Given the description of an element on the screen output the (x, y) to click on. 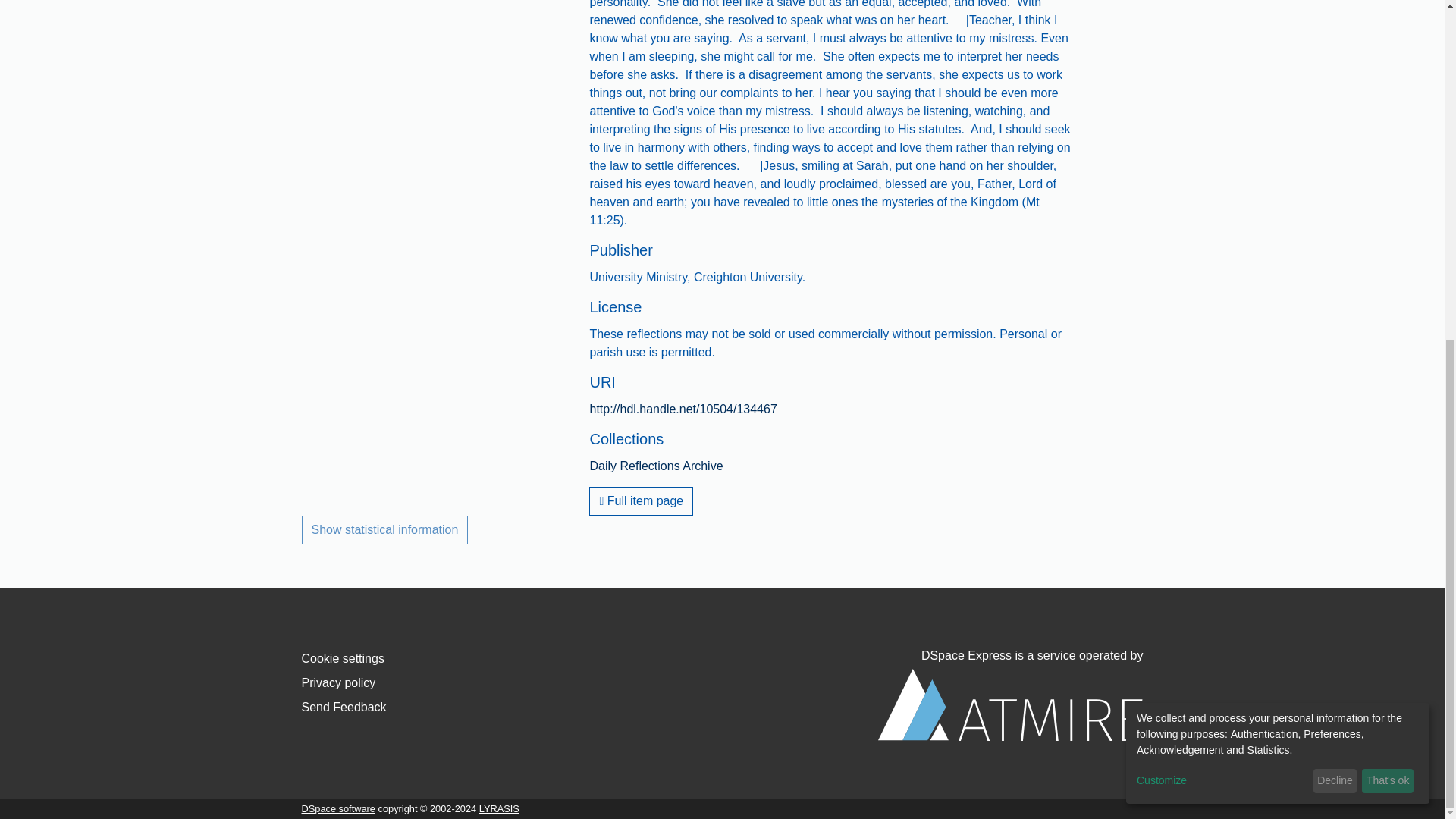
DSpace software (338, 808)
Privacy policy (338, 682)
Show statistical information (384, 529)
LYRASIS (499, 808)
Send Feedback (344, 707)
DSpace Express is a service operated by (1009, 695)
That's ok (1387, 206)
Cookie settings (342, 658)
Daily Reflections Archive (655, 465)
Customize (1222, 206)
Decline (1334, 206)
Full item page (641, 500)
